Given the description of an element on the screen output the (x, y) to click on. 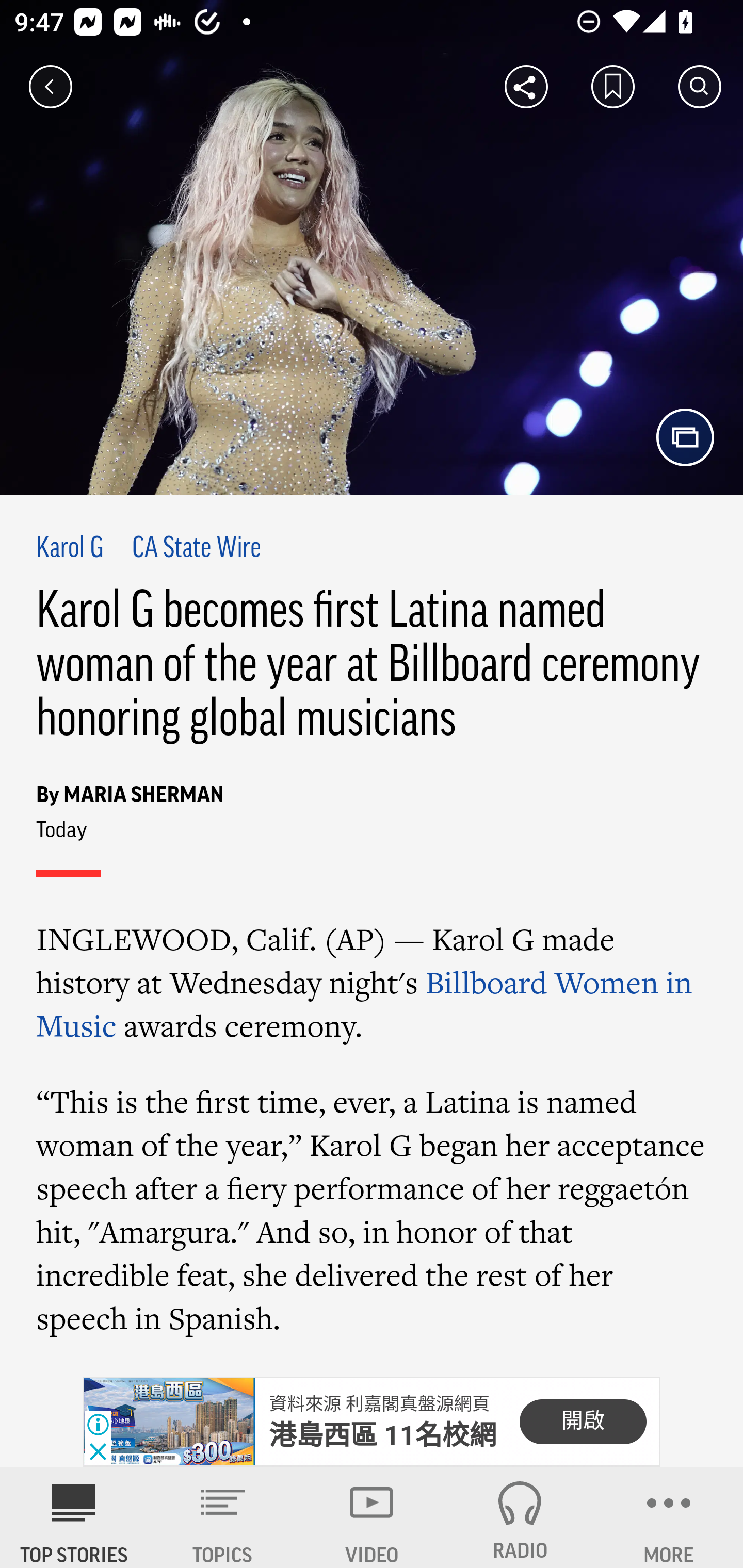
Karol G (70, 549)
CA State Wire (196, 549)
Billboard Women in Music (364, 1004)
資料來源 利嘉閣真盤源網頁 (379, 1403)
開啟 (582, 1421)
港島西區 11名校網 (382, 1434)
AP News TOP STORIES (74, 1517)
TOPICS (222, 1517)
VIDEO (371, 1517)
RADIO (519, 1517)
MORE (668, 1517)
